Given the description of an element on the screen output the (x, y) to click on. 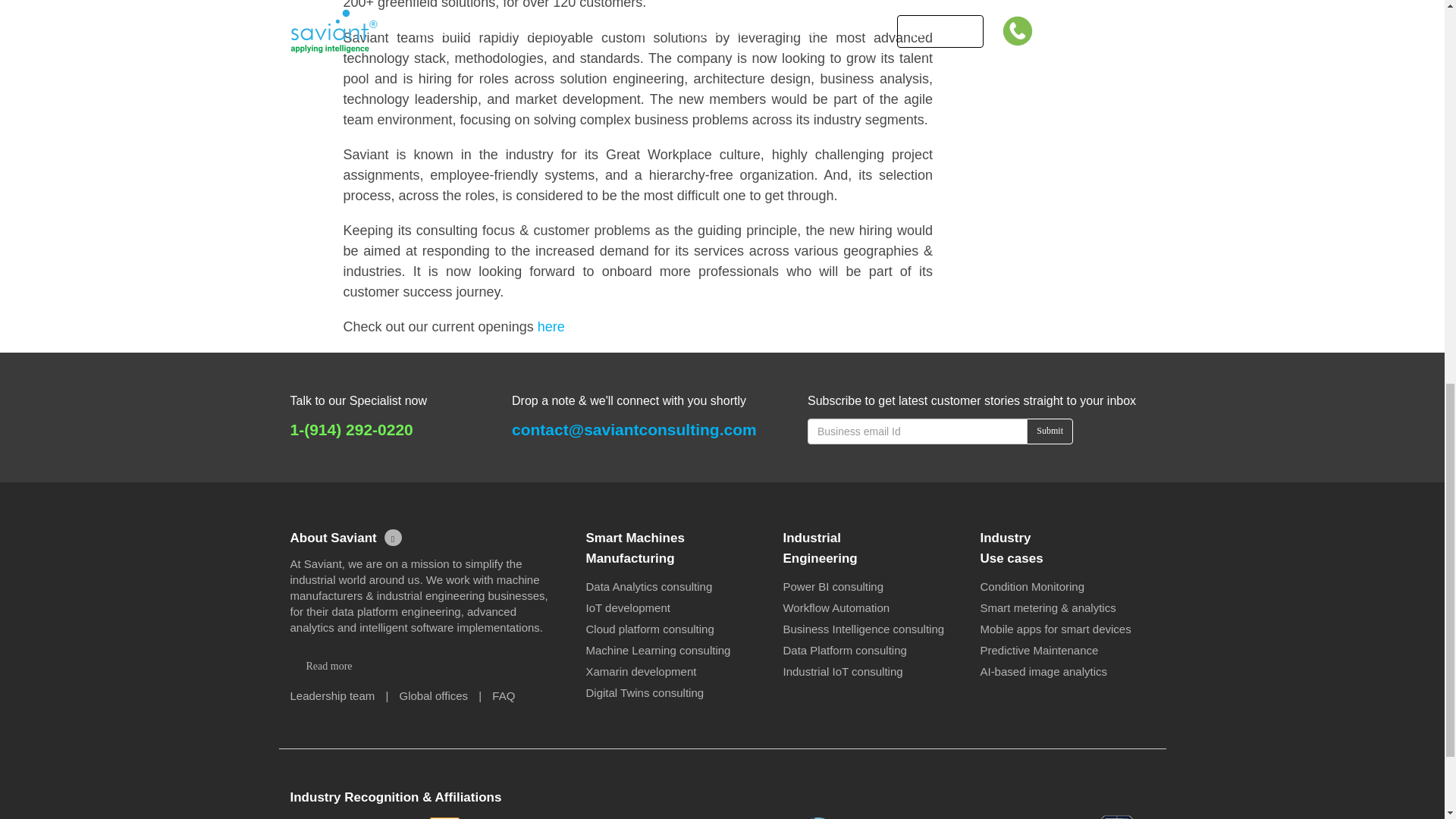
Submit (1049, 431)
here (550, 326)
Saviant at Digital Manufacturing Week 2022, UK (1050, 49)
